Given the description of an element on the screen output the (x, y) to click on. 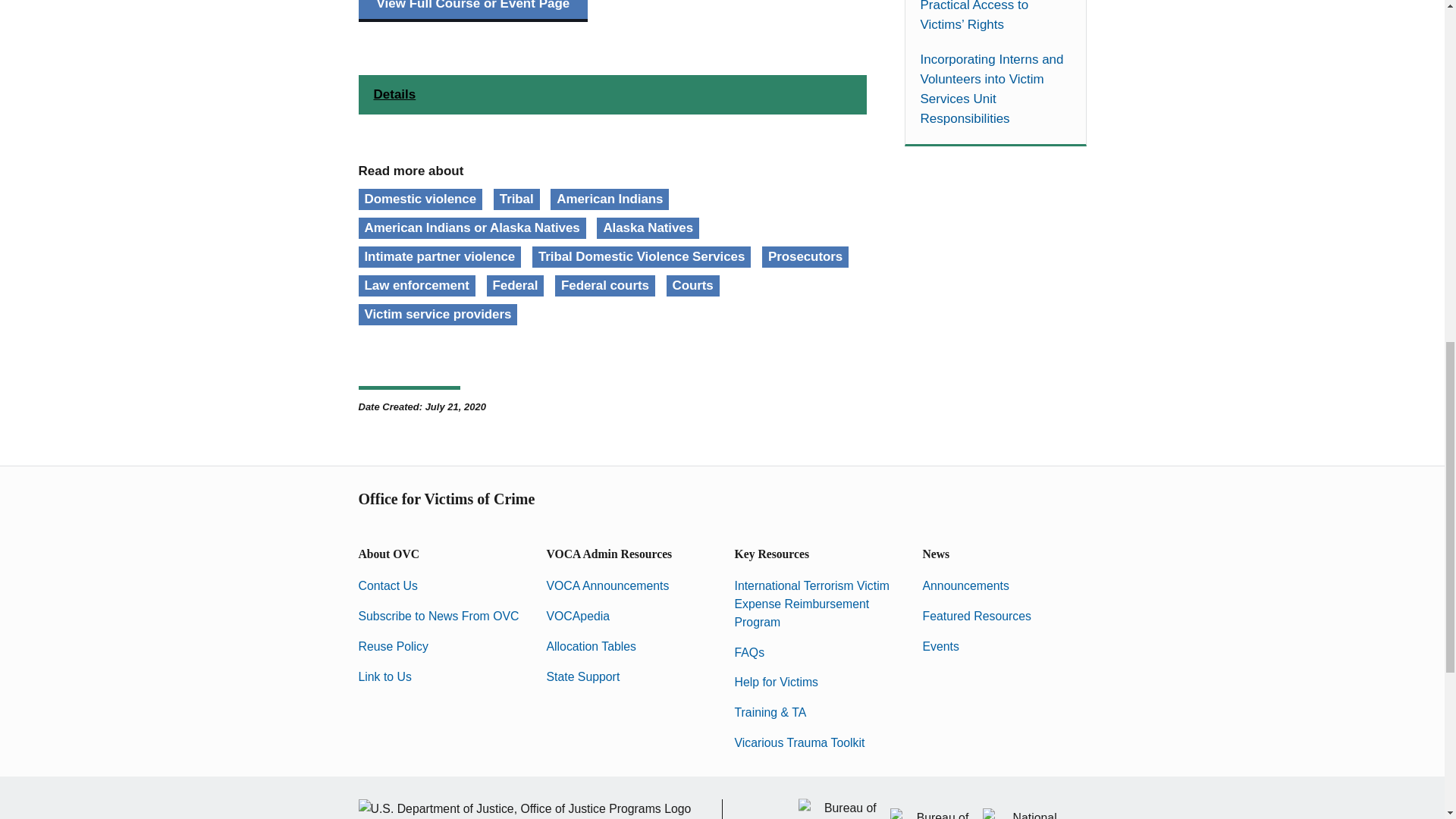
Intimate partner violence (439, 256)
Tribal Domestic Violence Services (641, 256)
View Full Course or Event Page (473, 11)
Federal courts (604, 285)
Alaska Natives (647, 228)
Prosecutors (804, 256)
Federal (515, 285)
Details (612, 94)
Domestic violence (419, 199)
